Given the description of an element on the screen output the (x, y) to click on. 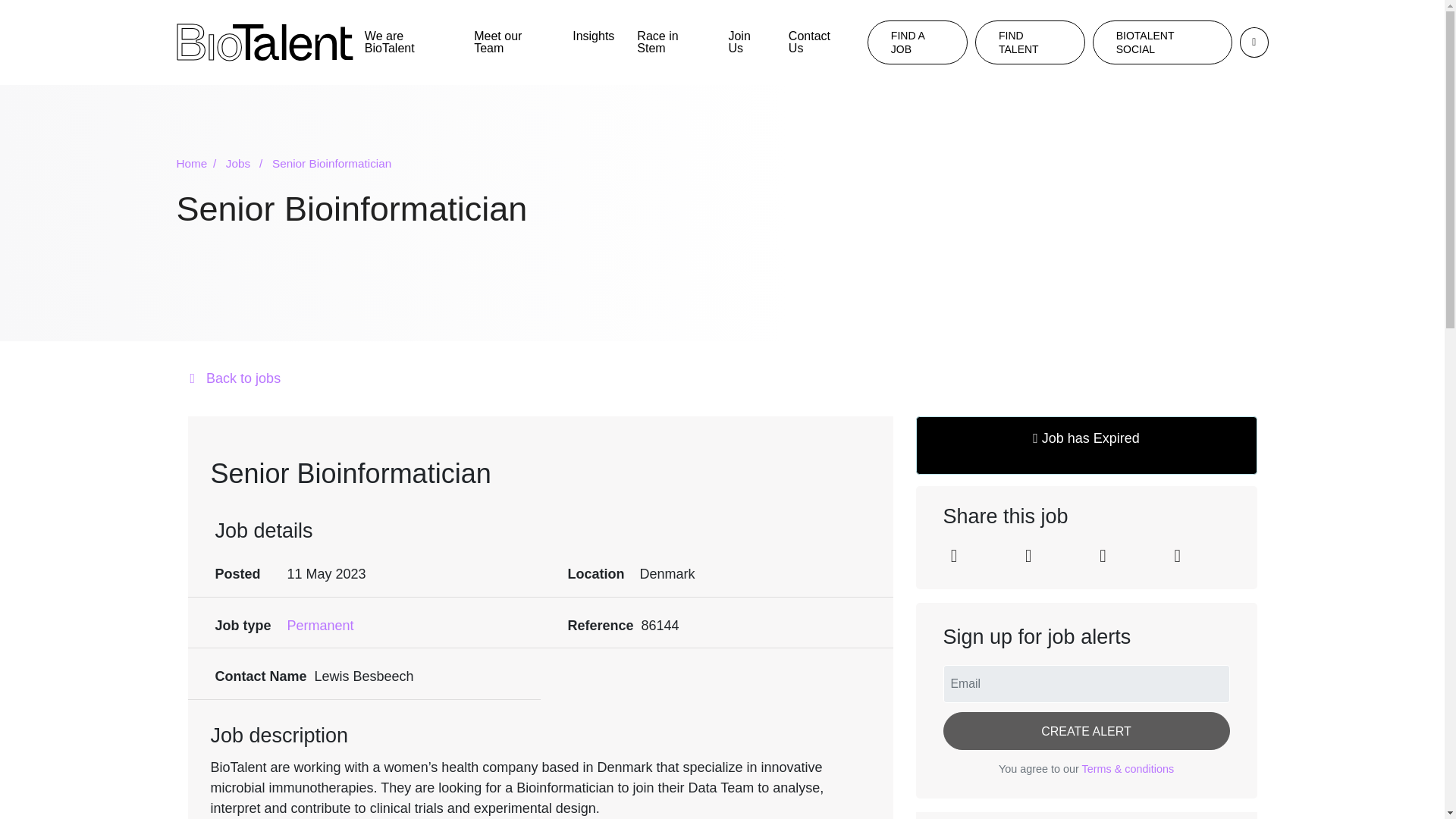
Contact Us (816, 42)
Permanent (319, 625)
CREATE ALERT (1086, 730)
FIND TALENT (1029, 42)
Back to jobs (721, 378)
BIOTALENT SOCIAL (1162, 42)
Senior Bioinformatician (331, 164)
Meet our Team (511, 42)
We are BioTalent (408, 42)
Jobs (246, 164)
FIND A JOB (917, 42)
Join Us (746, 42)
Insights (593, 36)
Race in Stem (671, 42)
Home (198, 164)
